Given the description of an element on the screen output the (x, y) to click on. 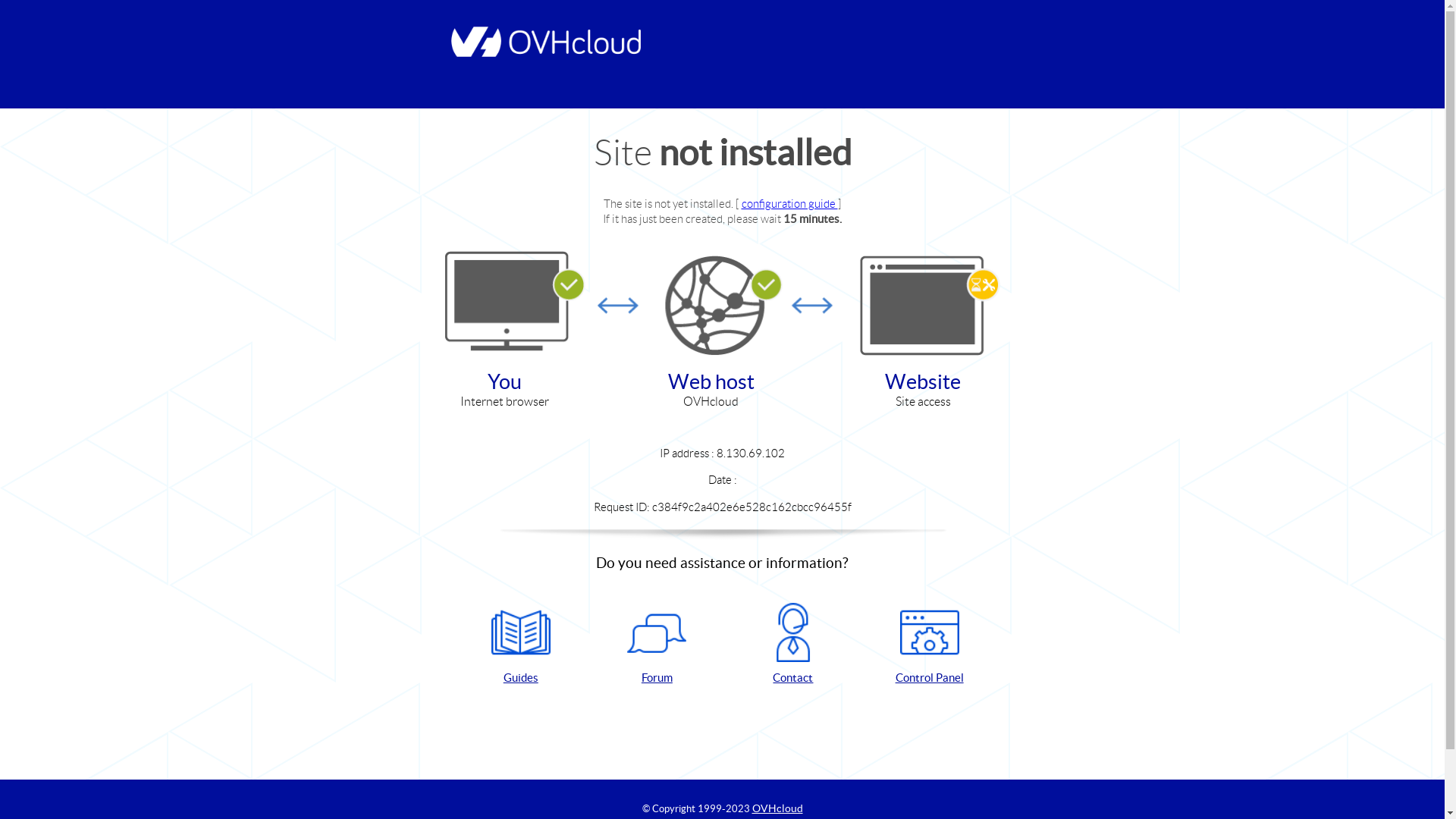
configuration guide Element type: text (789, 203)
OVHcloud Element type: text (777, 808)
Contact Element type: text (792, 644)
Control Panel Element type: text (929, 644)
Forum Element type: text (656, 644)
Guides Element type: text (520, 644)
